Given the description of an element on the screen output the (x, y) to click on. 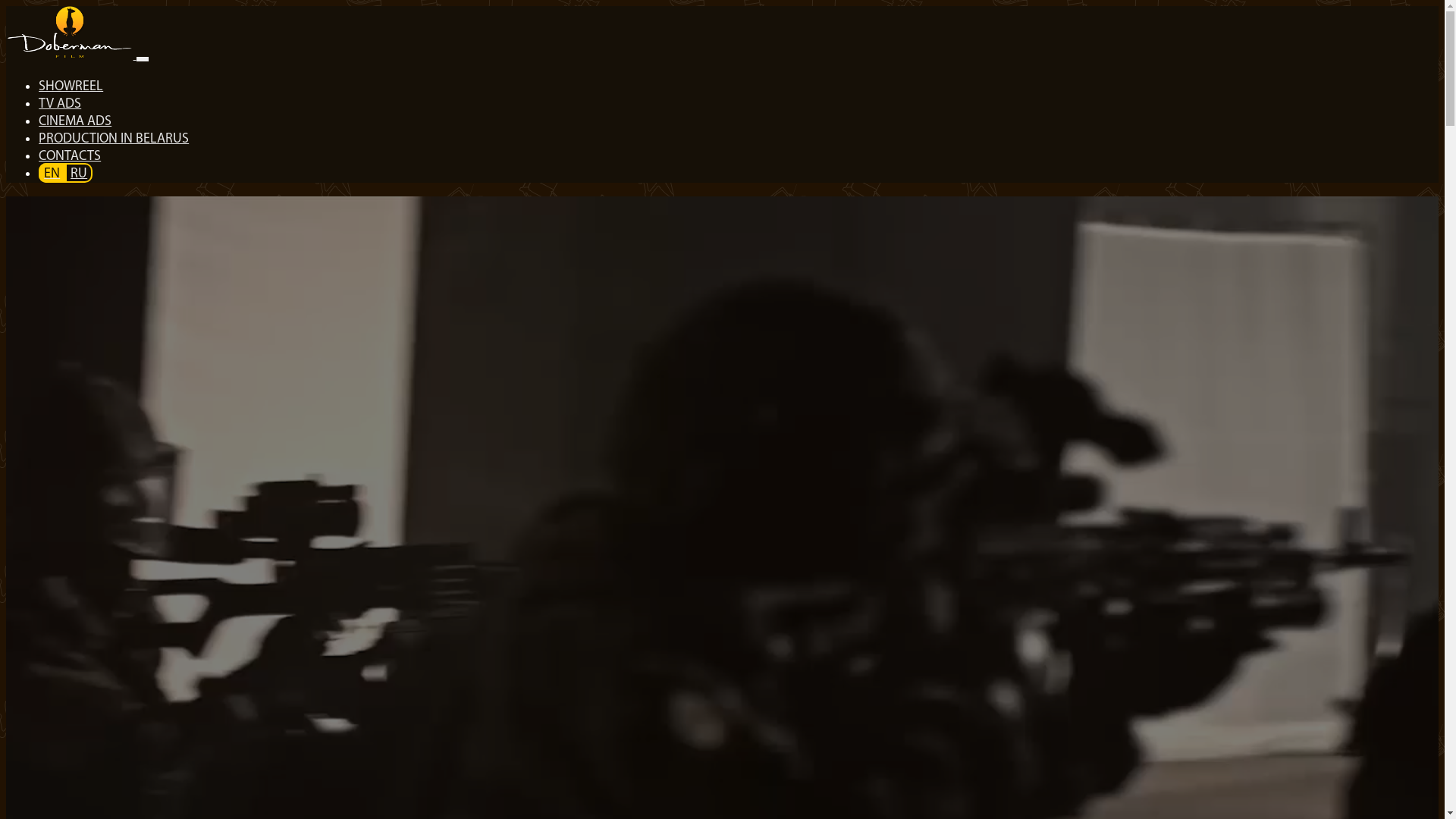
SHOWREEL Element type: text (70, 86)
TV ADS Element type: text (59, 104)
ENRU Element type: text (65, 173)
PRODUCTION IN BELARUS Element type: text (113, 138)
CINEMA ADS Element type: text (74, 121)
CONTACTS Element type: text (69, 156)
